Given the description of an element on the screen output the (x, y) to click on. 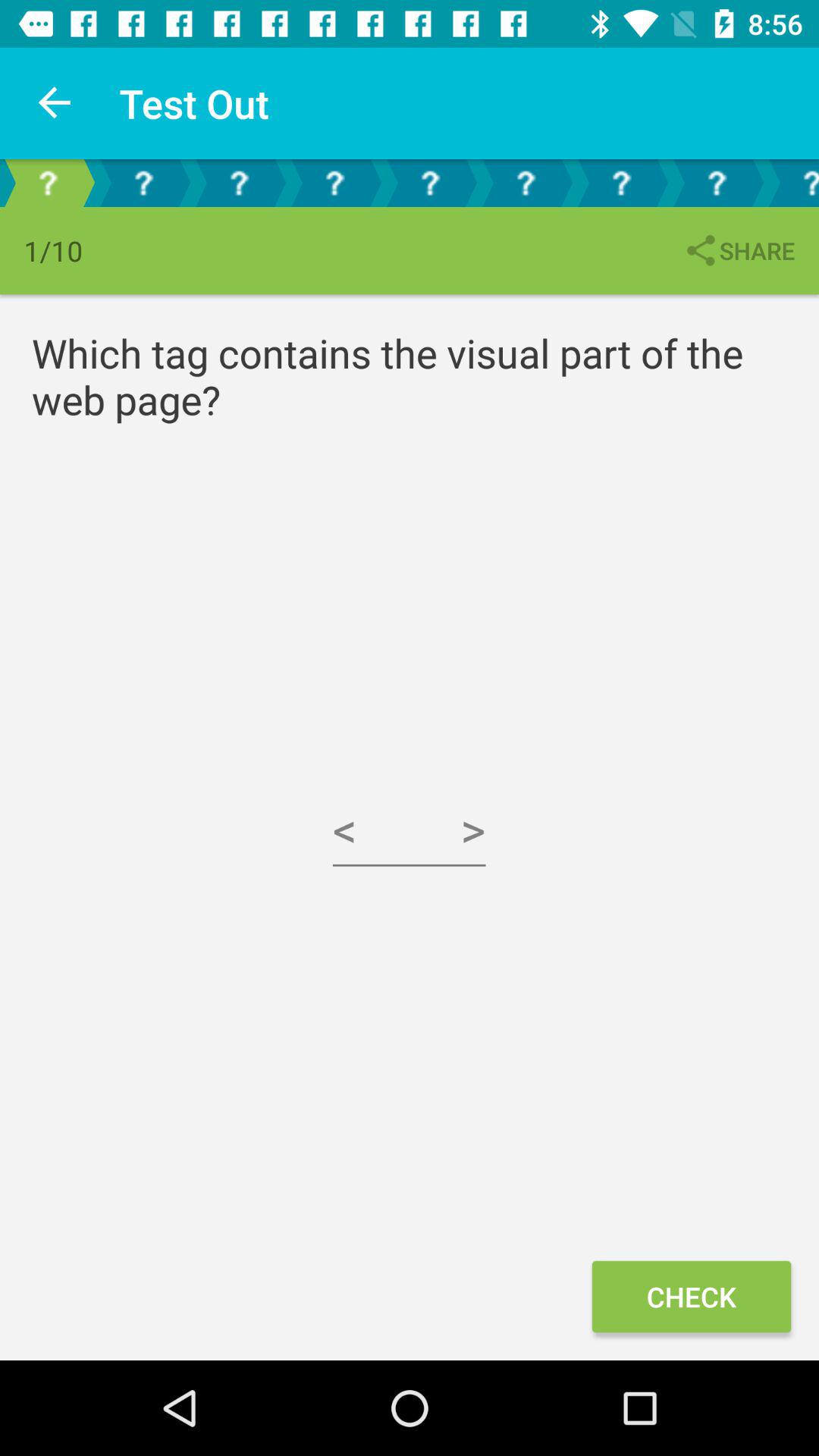
question mark (429, 183)
